Given the description of an element on the screen output the (x, y) to click on. 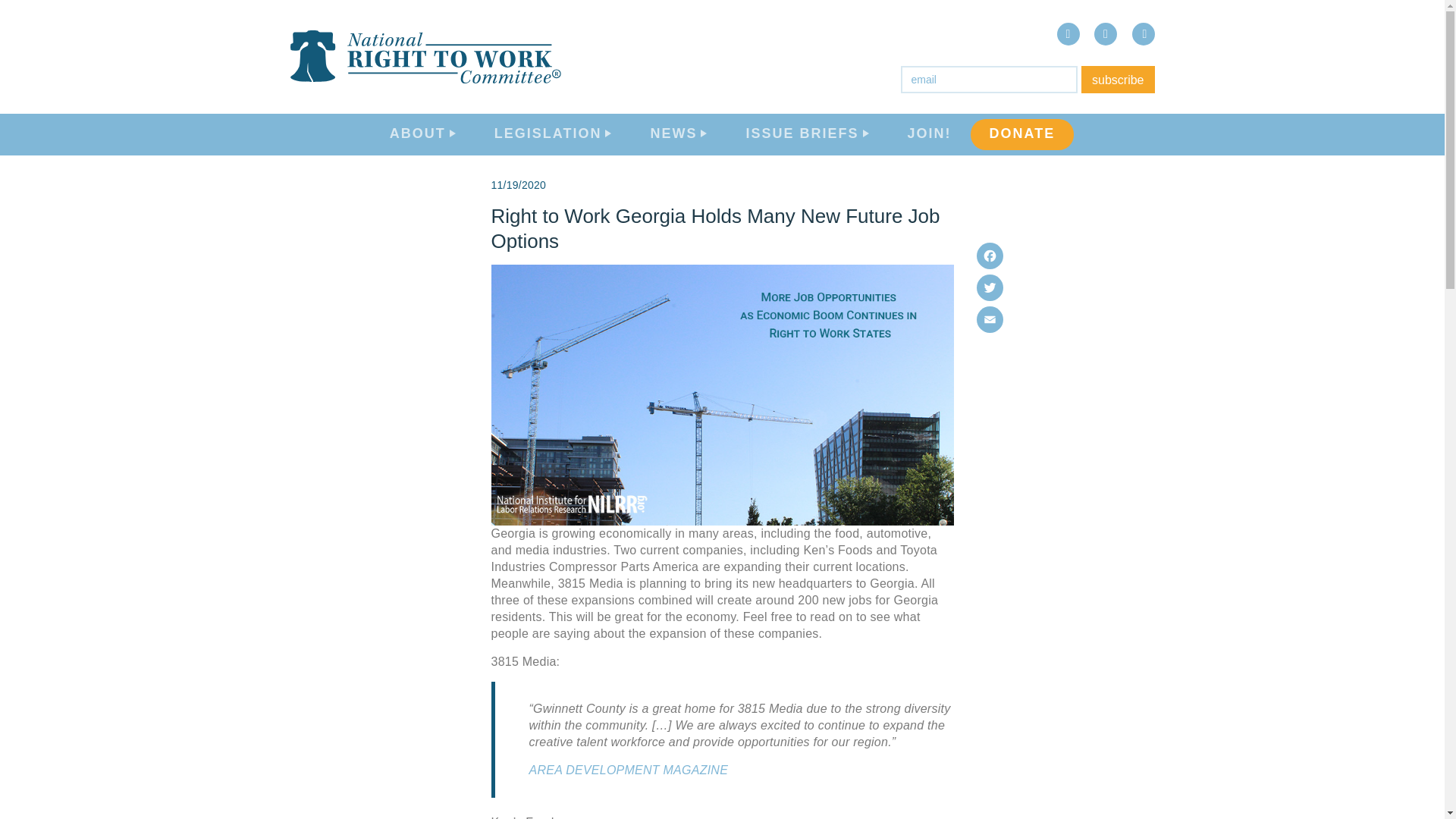
FEDERAL LEGISLATION (1301, 396)
LEGISLATION (553, 134)
NRTWC on Twitter (1105, 33)
YouTube (1142, 33)
NEWS (678, 134)
ISSUE BRIEFS (807, 134)
JOIN! (928, 134)
NRTWC on Facebook (1068, 33)
ABOUT (423, 134)
CONTACT US (1299, 292)
NRTWC on YouTube (1142, 33)
FREEDOM FROM UNION VIOLENCE (1316, 738)
NATIONAL RIGHT TO WORK ACT (1328, 690)
NEWSLETTER (1301, 616)
Twitter (989, 287)
